Given the description of an element on the screen output the (x, y) to click on. 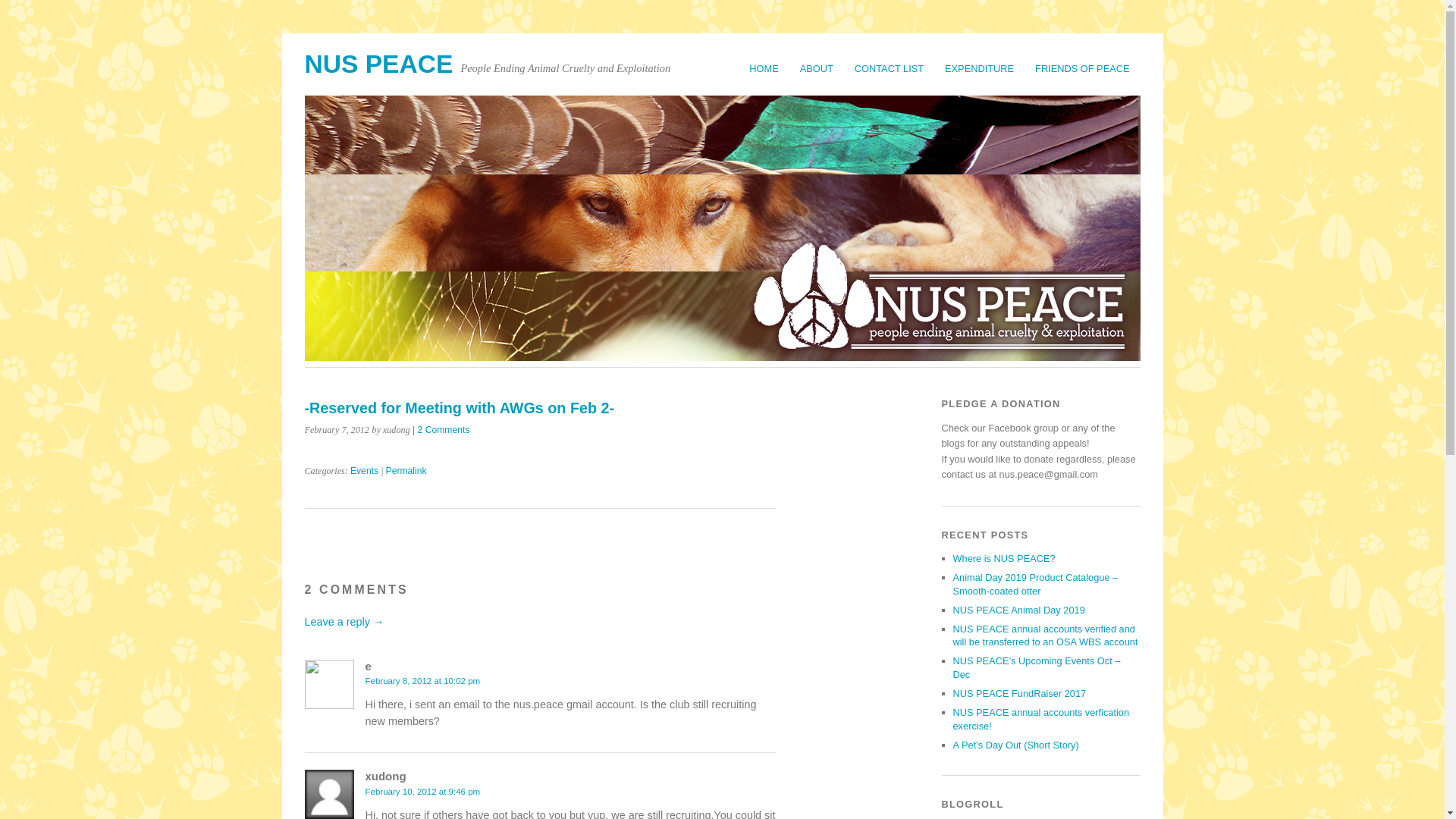
February 10, 2012 at 9:46 pm (422, 791)
NUS PEACE (378, 63)
Events (364, 470)
HOME (763, 68)
NUS PEACE annual accounts verfication exercise! (1040, 719)
Where is NUS PEACE? (1003, 558)
EXPENDITURE (979, 68)
NUS PEACE FundRaiser 2017 (1019, 693)
2 Comments (443, 429)
NUS PEACE (378, 63)
